Given the description of an element on the screen output the (x, y) to click on. 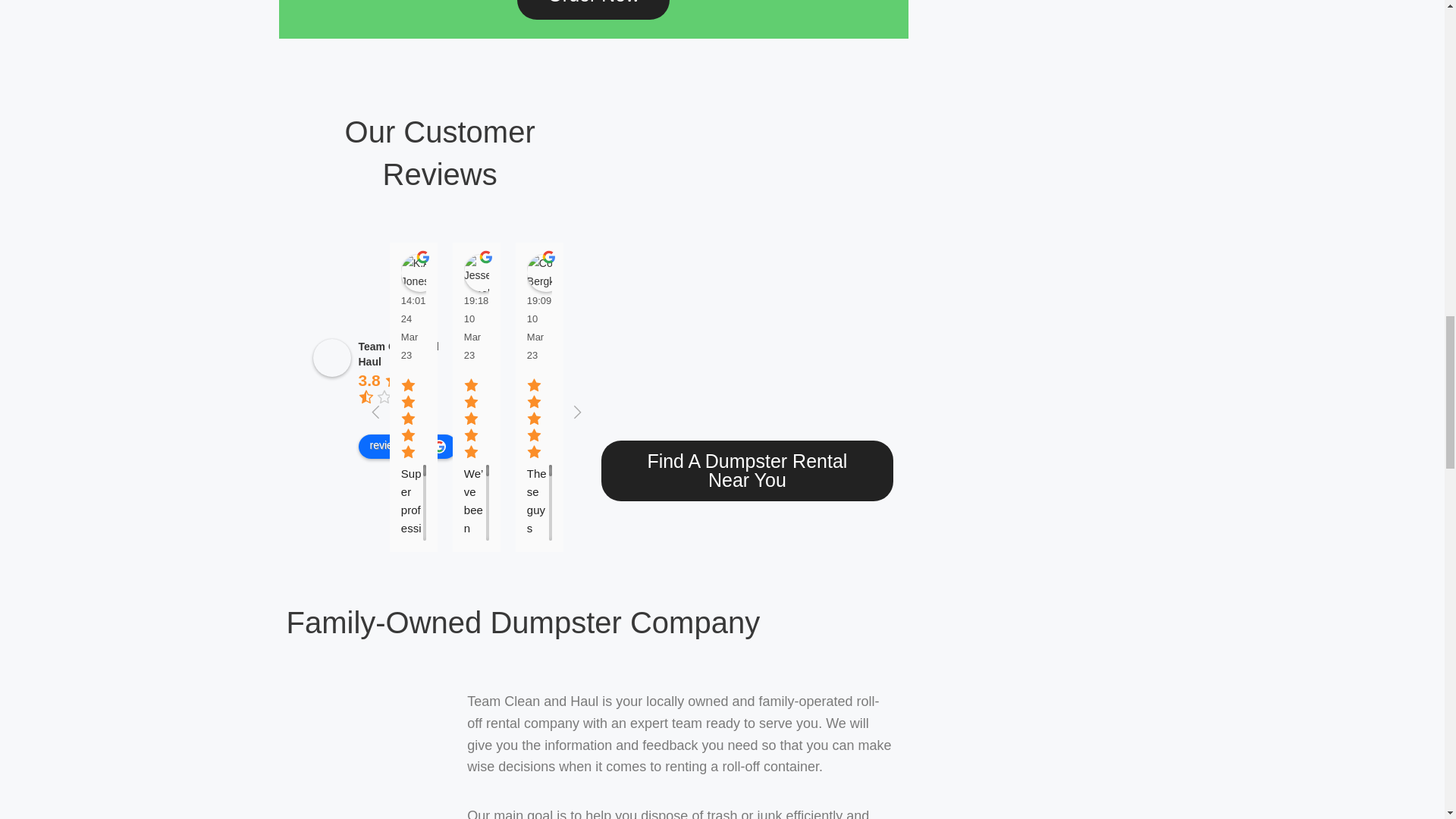
Order Now (592, 9)
review us on (407, 446)
m cook (671, 272)
powered by Google (407, 415)
Team Clean and Haul (398, 353)
Jesse Ornelas (483, 272)
Cody Bergkamp (545, 272)
K.A. Jones (420, 272)
Find A Dumpster Rental Near You (747, 470)
tolleson, az (747, 262)
